Given the description of an element on the screen output the (x, y) to click on. 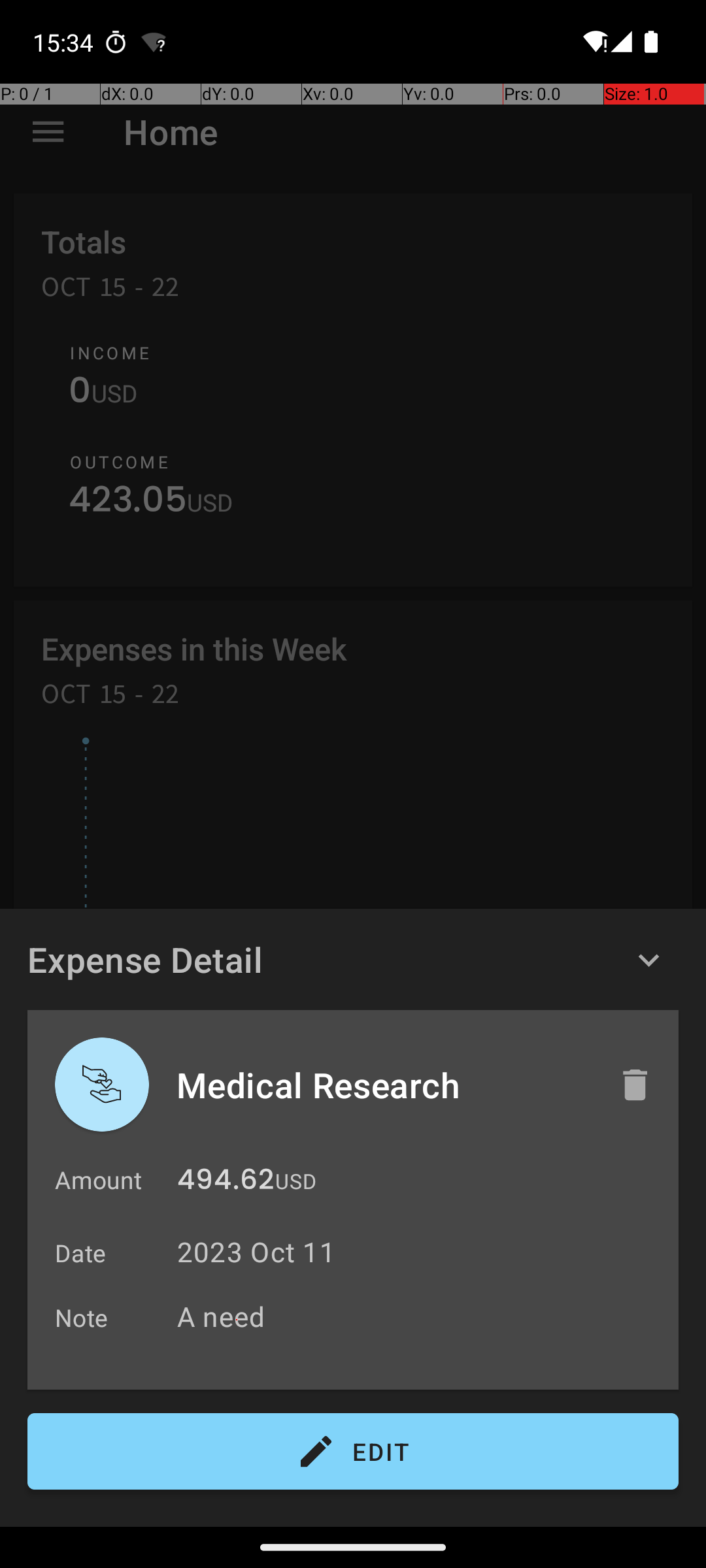
Medical Research Element type: android.widget.TextView (383, 1084)
494.62 Element type: android.widget.TextView (225, 1182)
2023 Oct 11 Element type: android.widget.TextView (256, 1251)
15:35 Element type: android.widget.TextView (64, 41)
Android System notification: AndroidWifi has limited connectivity Element type: android.widget.ImageView (153, 41)
Wifi signal full.,No internet Element type: android.widget.FrameLayout (593, 41)
